Given the description of an element on the screen output the (x, y) to click on. 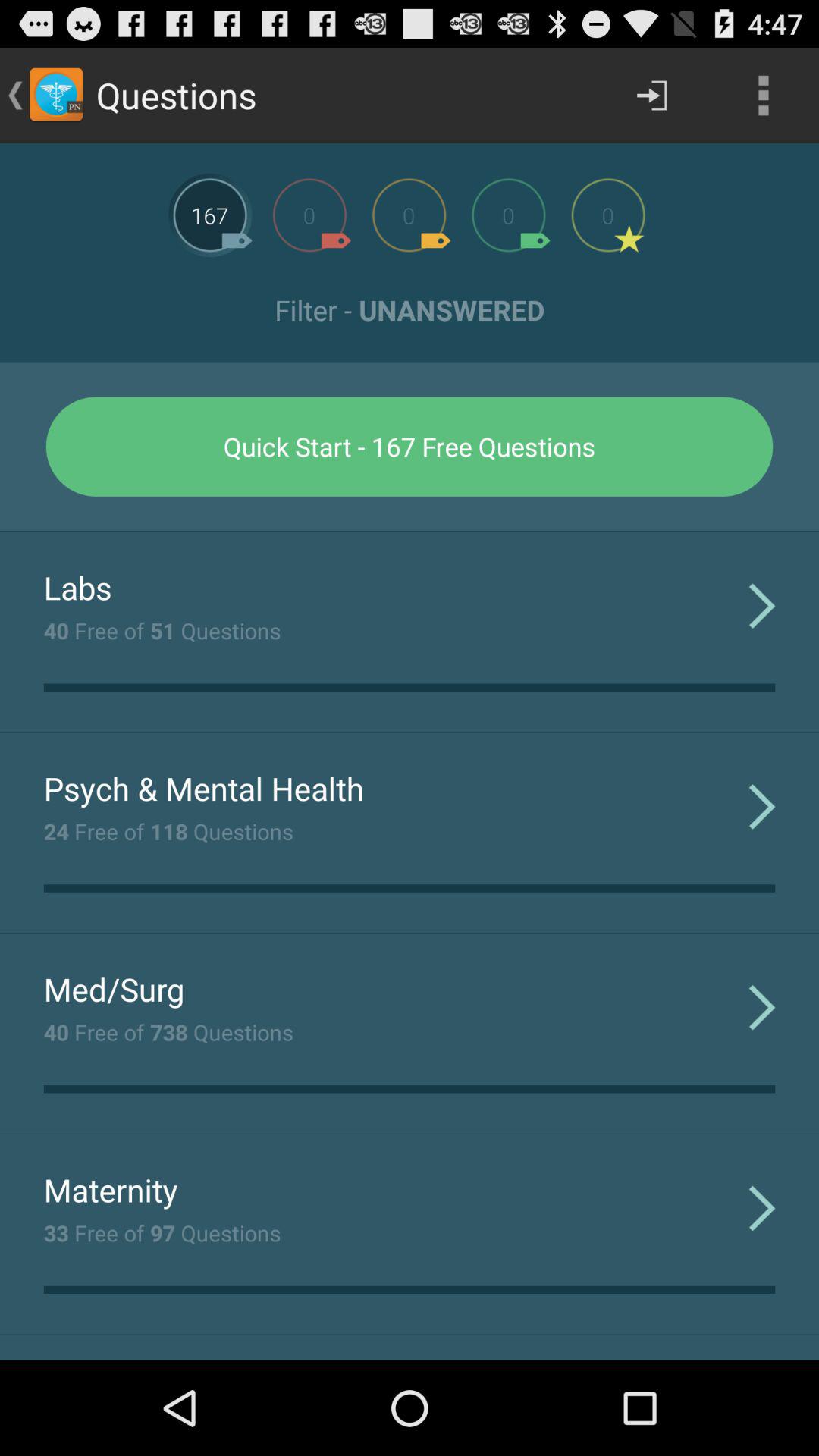
tap icon above 40 free of app (77, 587)
